Given the description of an element on the screen output the (x, y) to click on. 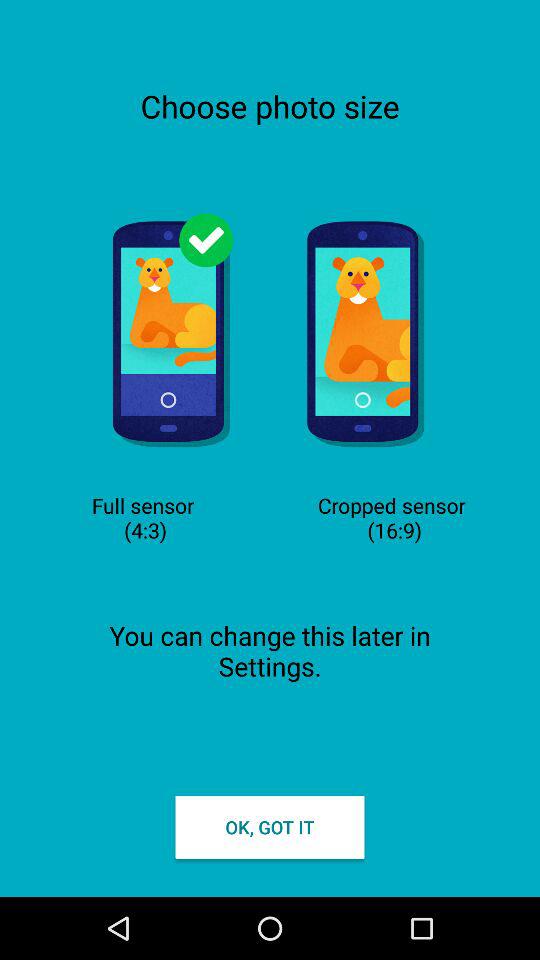
swipe until ok, got it button (269, 826)
